Given the description of an element on the screen output the (x, y) to click on. 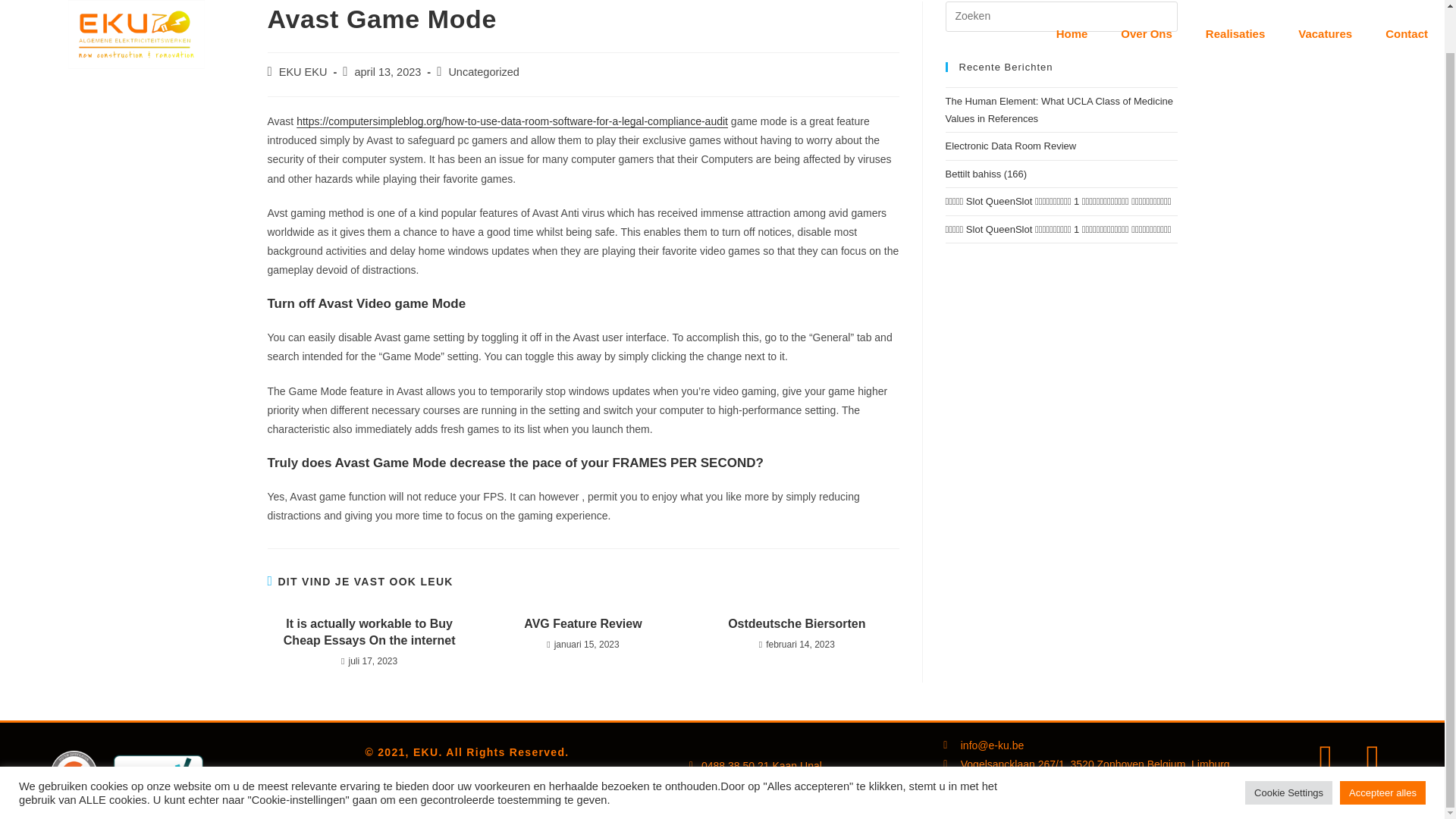
Berichten van EKU EKU (303, 71)
Vacatures (1324, 2)
Over Ons (1146, 2)
Realisaties (1235, 2)
Home (1072, 2)
